Given the description of an element on the screen output the (x, y) to click on. 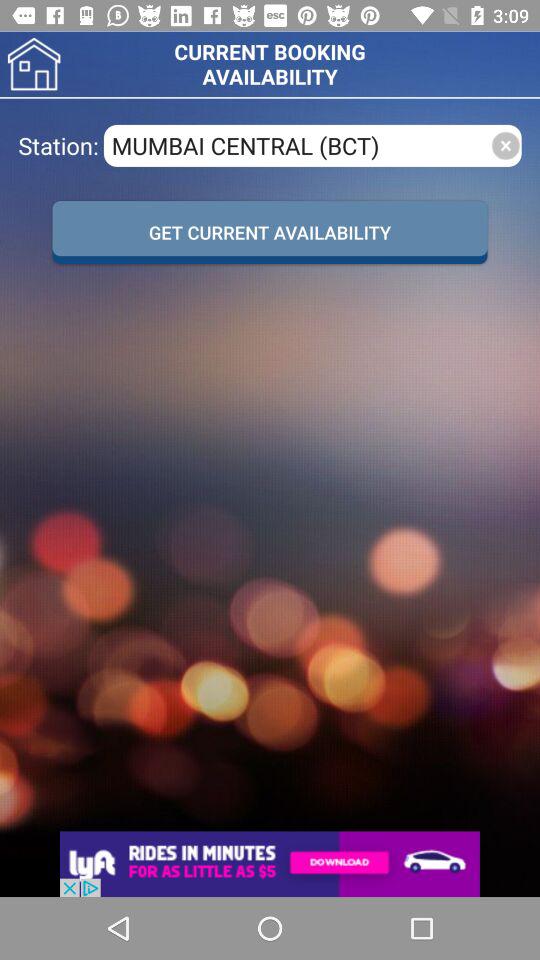
close (505, 145)
